Given the description of an element on the screen output the (x, y) to click on. 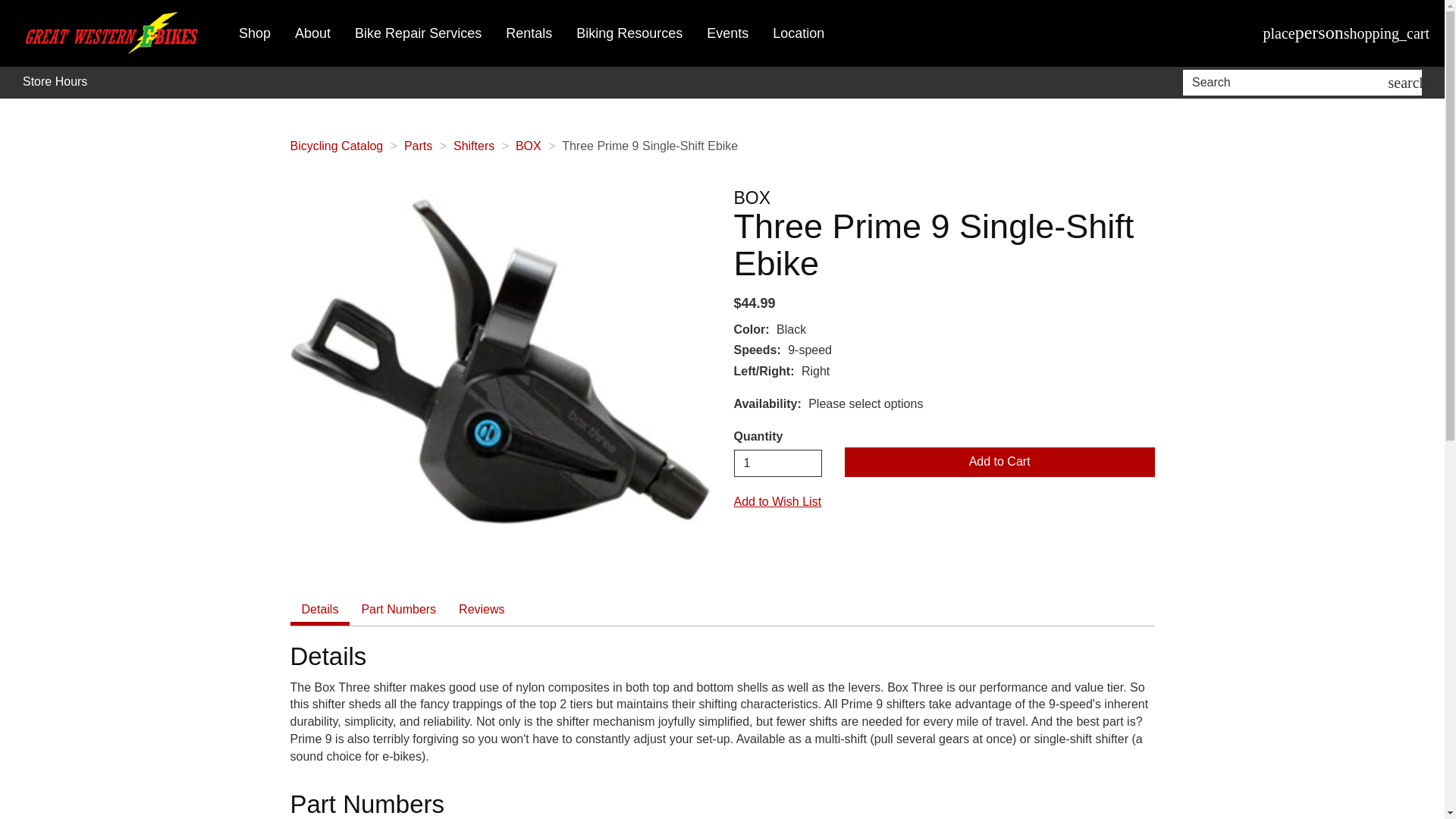
Shop (254, 33)
Stores (1279, 33)
Account (1319, 32)
1 (777, 462)
Great Western E Bikes Home Page (114, 33)
Store Hours (55, 81)
Search (1287, 82)
